Given the description of an element on the screen output the (x, y) to click on. 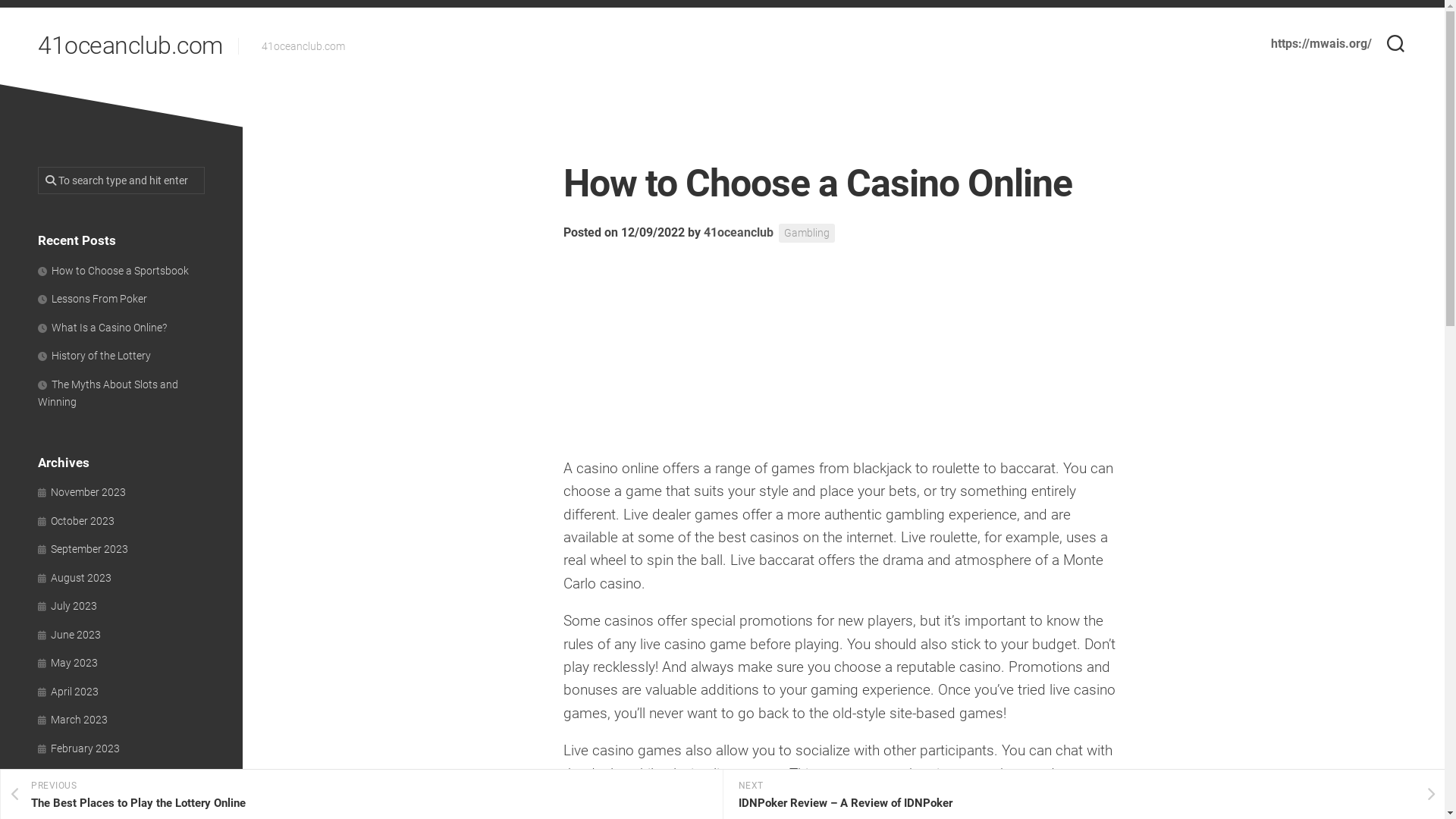
February 2023 Element type: text (78, 747)
41oceanclub.com Element type: text (129, 45)
June 2023 Element type: text (68, 633)
September 2023 Element type: text (82, 548)
January 2023 Element type: text (76, 776)
November 2023 Element type: text (81, 492)
July 2023 Element type: text (67, 605)
41oceanclub Element type: text (738, 232)
History of the Lottery Element type: text (93, 355)
Lessons From Poker Element type: text (92, 298)
What Is a Casino Online? Element type: text (101, 327)
Gambling Element type: text (806, 232)
April 2023 Element type: text (67, 691)
https://mwais.org/ Element type: text (1320, 43)
May 2023 Element type: text (67, 662)
How to Choose a Sportsbook Element type: text (112, 269)
August 2023 Element type: text (74, 577)
The Myths About Slots and Winning Element type: text (107, 392)
December 2022 Element type: text (80, 805)
March 2023 Element type: text (72, 719)
October 2023 Element type: text (75, 520)
